Given the description of an element on the screen output the (x, y) to click on. 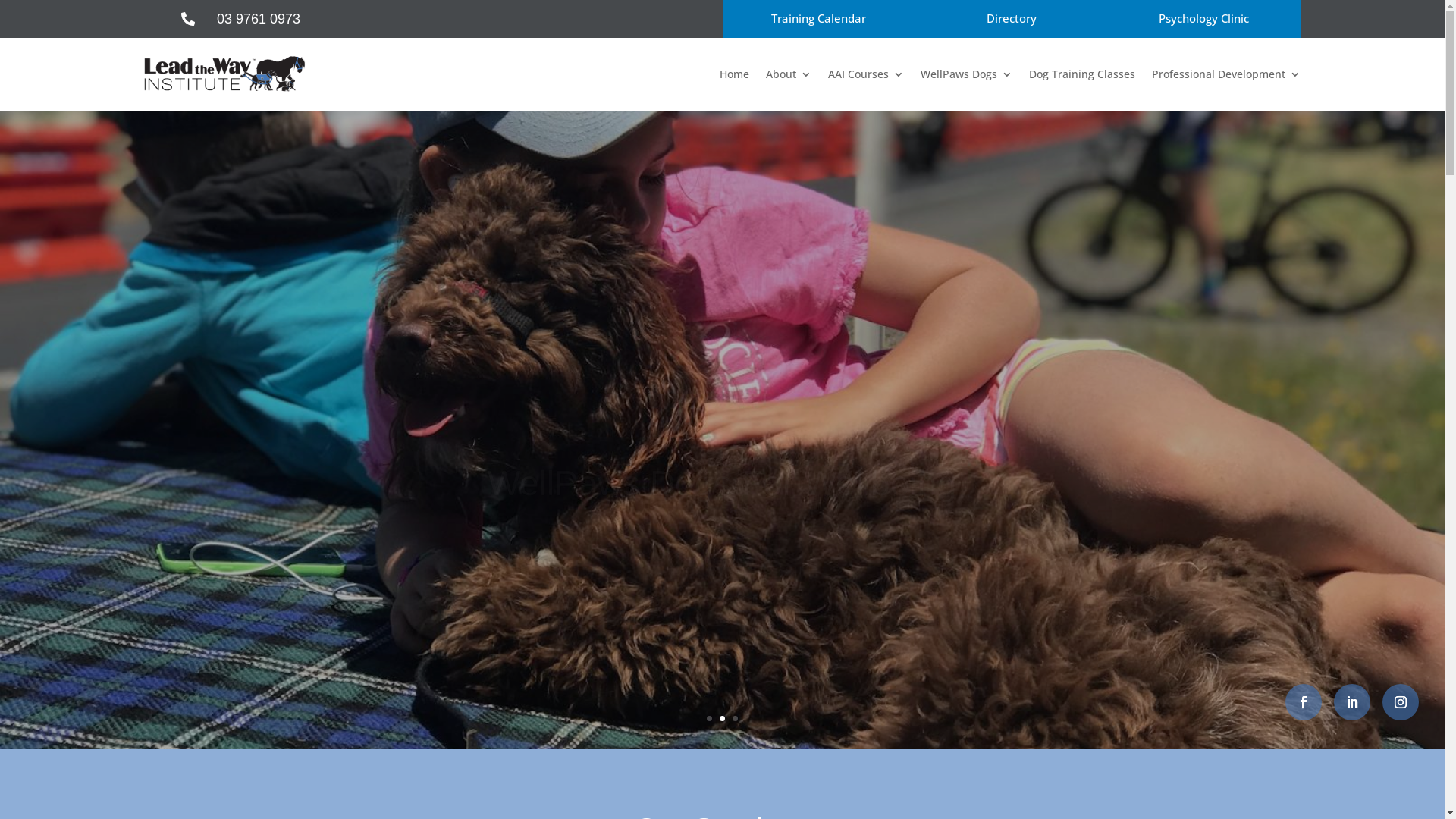
Training Calendar Element type: text (817, 18)
Psychology Clinic Element type: text (1203, 18)
About Element type: text (788, 74)
1 Element type: text (709, 718)
3 Element type: text (734, 718)
Directory Element type: text (1010, 18)
Home Element type: text (733, 74)
Follow on Facebook Element type: hover (1303, 702)
Follow on Instagram Element type: hover (1400, 702)
Professional Development Element type: text (1225, 74)
AAI Courses Element type: text (865, 74)
Follow on LinkedIn Element type: hover (1351, 702)
2 Element type: text (721, 718)
Dog Training Classes Element type: text (1081, 74)
WellPaws Dogs Element type: text (966, 74)
